Given the description of an element on the screen output the (x, y) to click on. 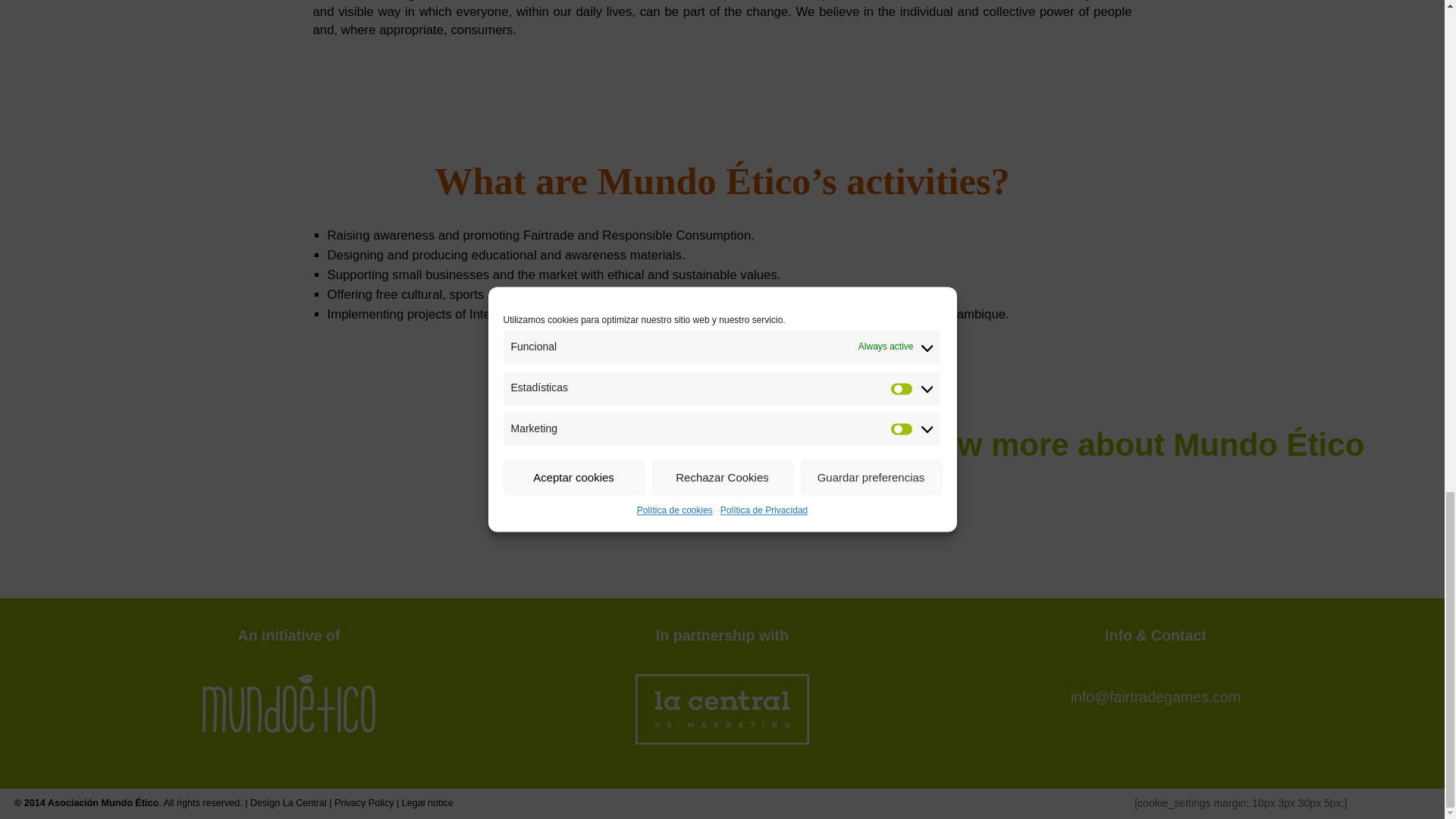
La Central de Marketing (304, 802)
